Given the description of an element on the screen output the (x, y) to click on. 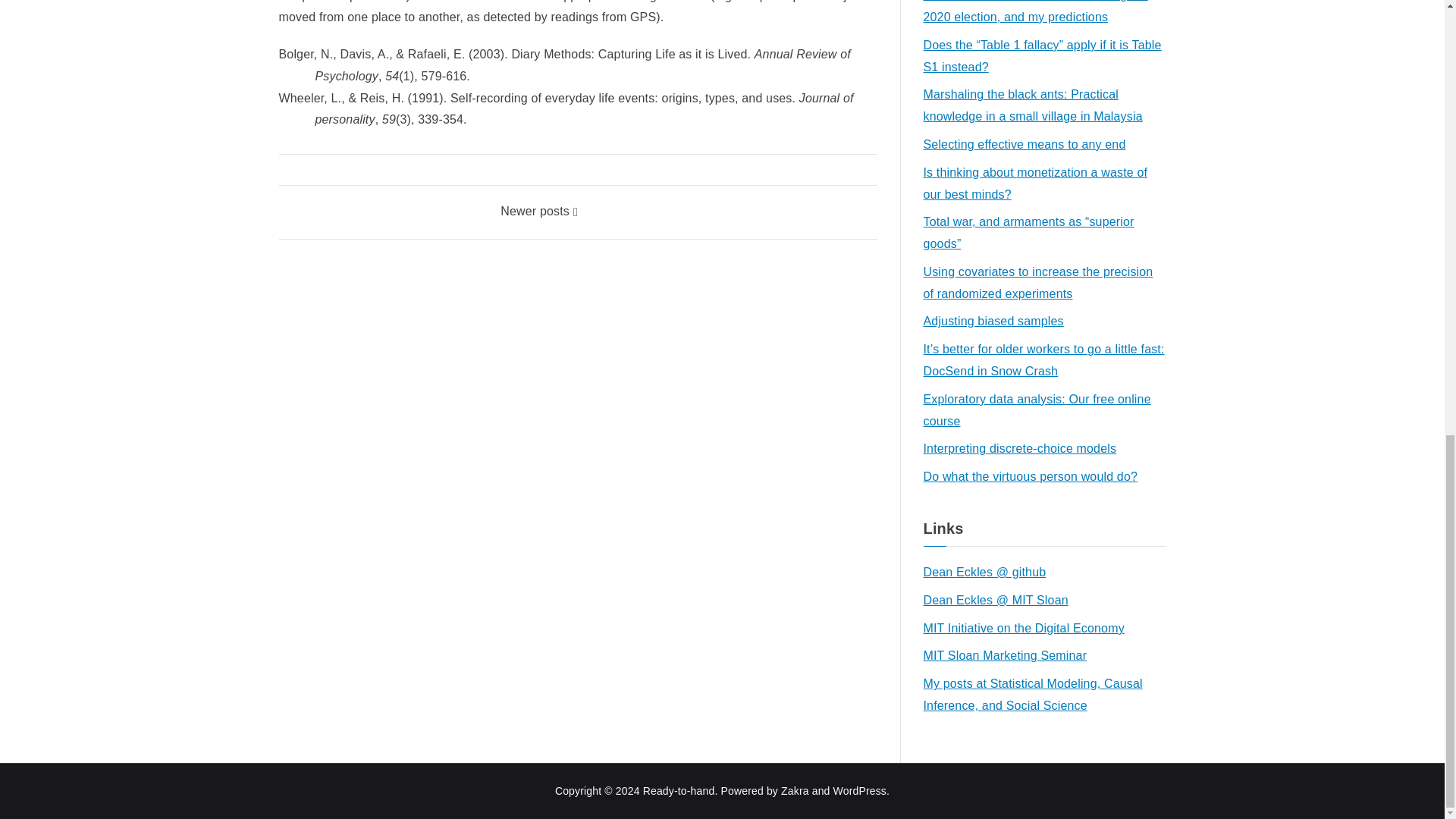
Selecting effective means to any end (1024, 145)
Do what the virtuous person would do? (1030, 477)
Exploratory data analysis: Our free online course (1044, 411)
Newer posts (539, 210)
WordPress (859, 790)
Ready-to-hand (678, 790)
Is thinking about monetization a waste of our best minds? (1044, 184)
Adjusting biased samples (993, 321)
Zakra (794, 790)
Interpreting discrete-choice models (1019, 449)
